Given the description of an element on the screen output the (x, y) to click on. 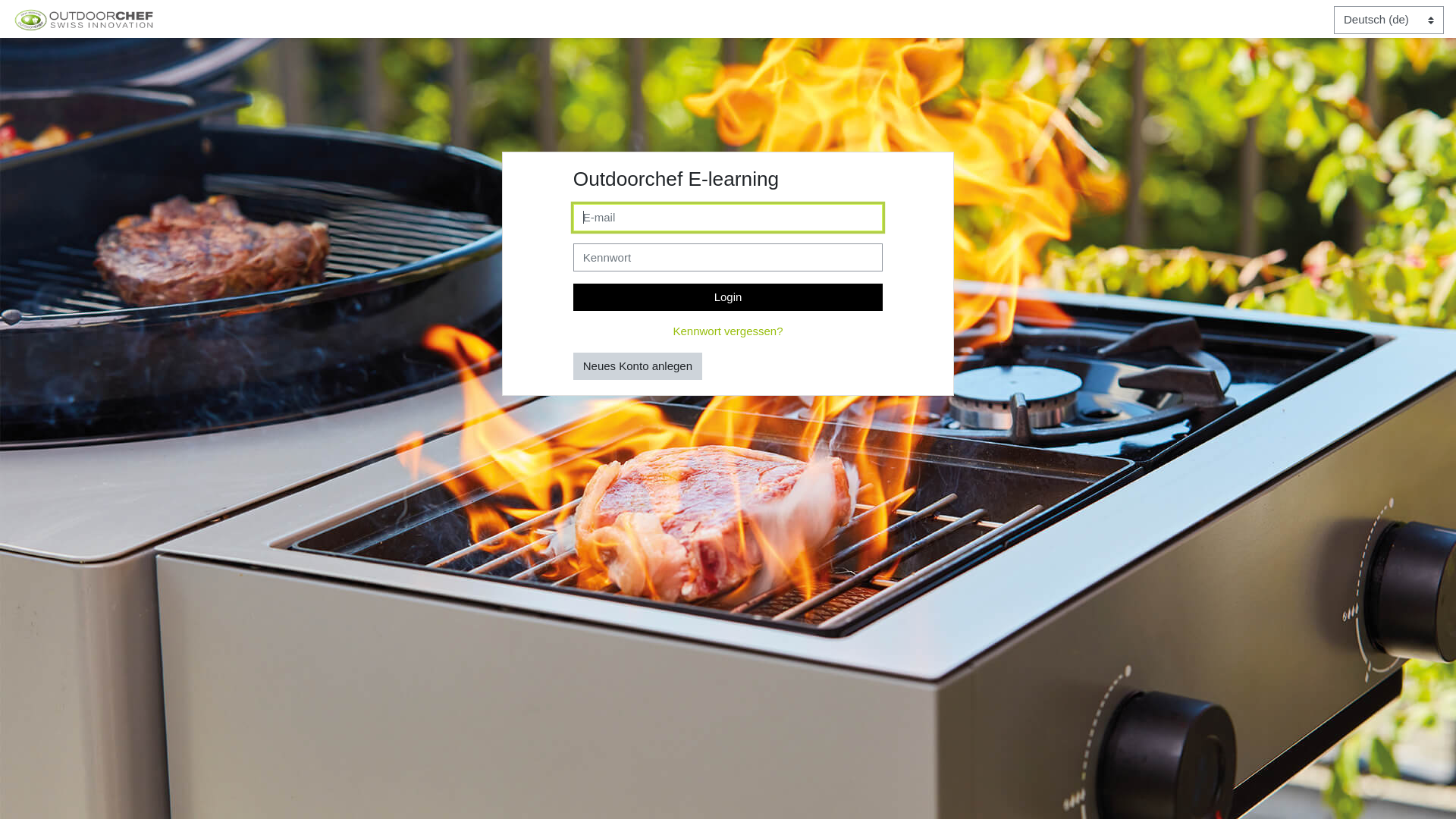
Neues Konto anlegen Element type: text (637, 365)
Login Element type: text (727, 297)
Kennwort vergessen? Element type: text (727, 330)
Outdoorchef E-learning Element type: hover (83, 19)
